Given the description of an element on the screen output the (x, y) to click on. 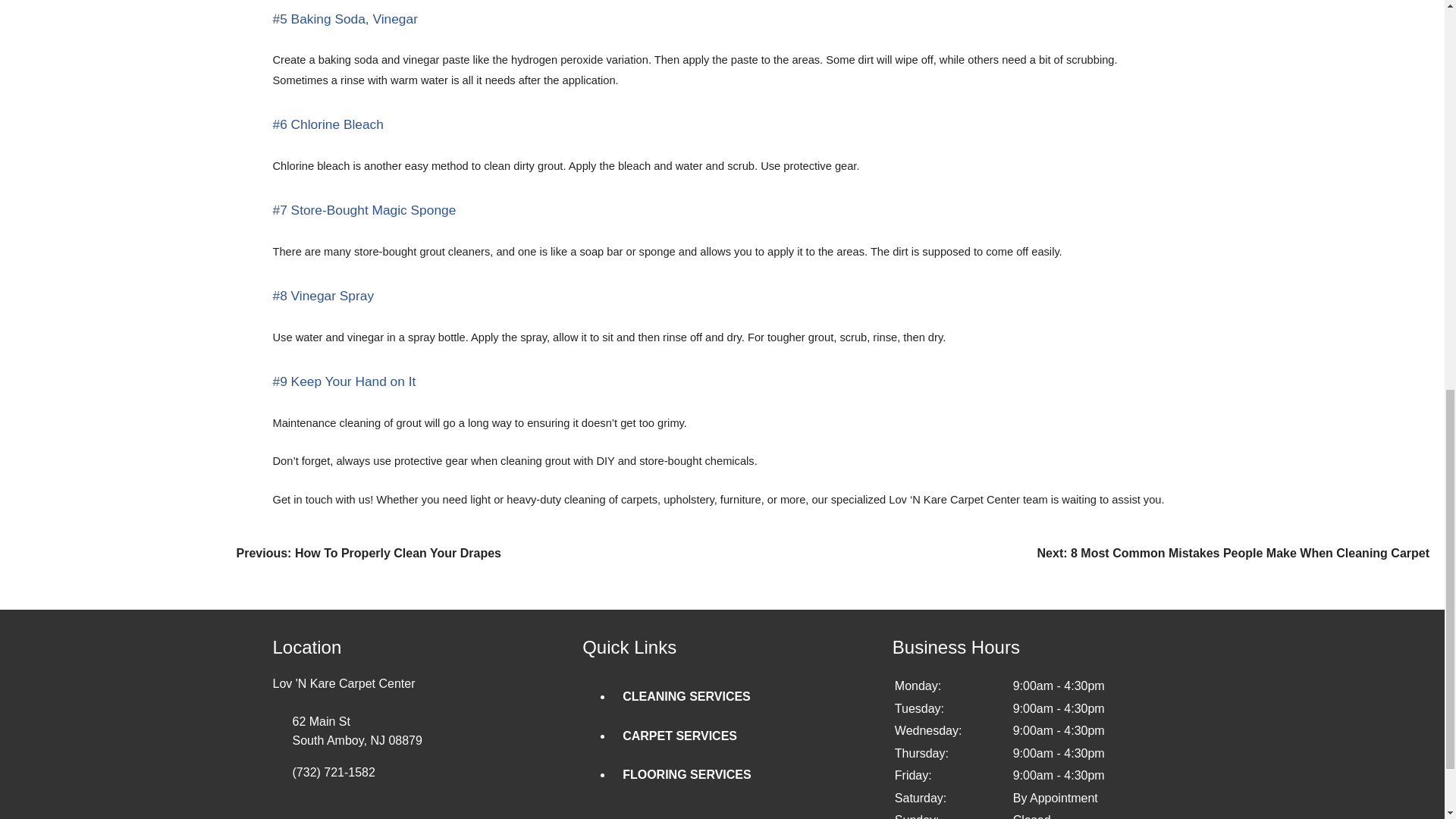
Call Today (428, 772)
Cleaning Services in South Amboy, NJ (687, 696)
Google Listing (428, 731)
